Given the description of an element on the screen output the (x, y) to click on. 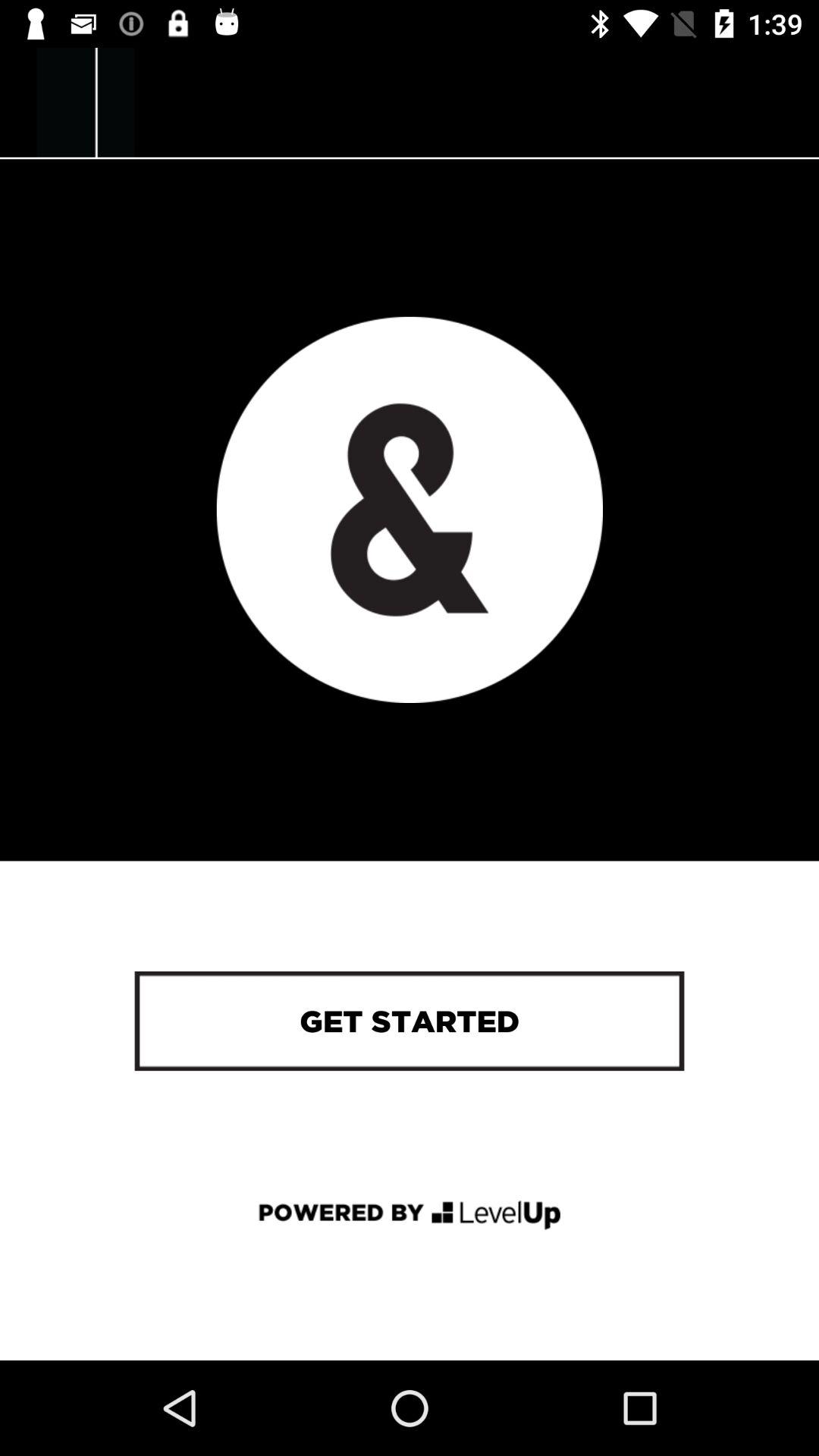
turn off get started icon (409, 1020)
